Given the description of an element on the screen output the (x, y) to click on. 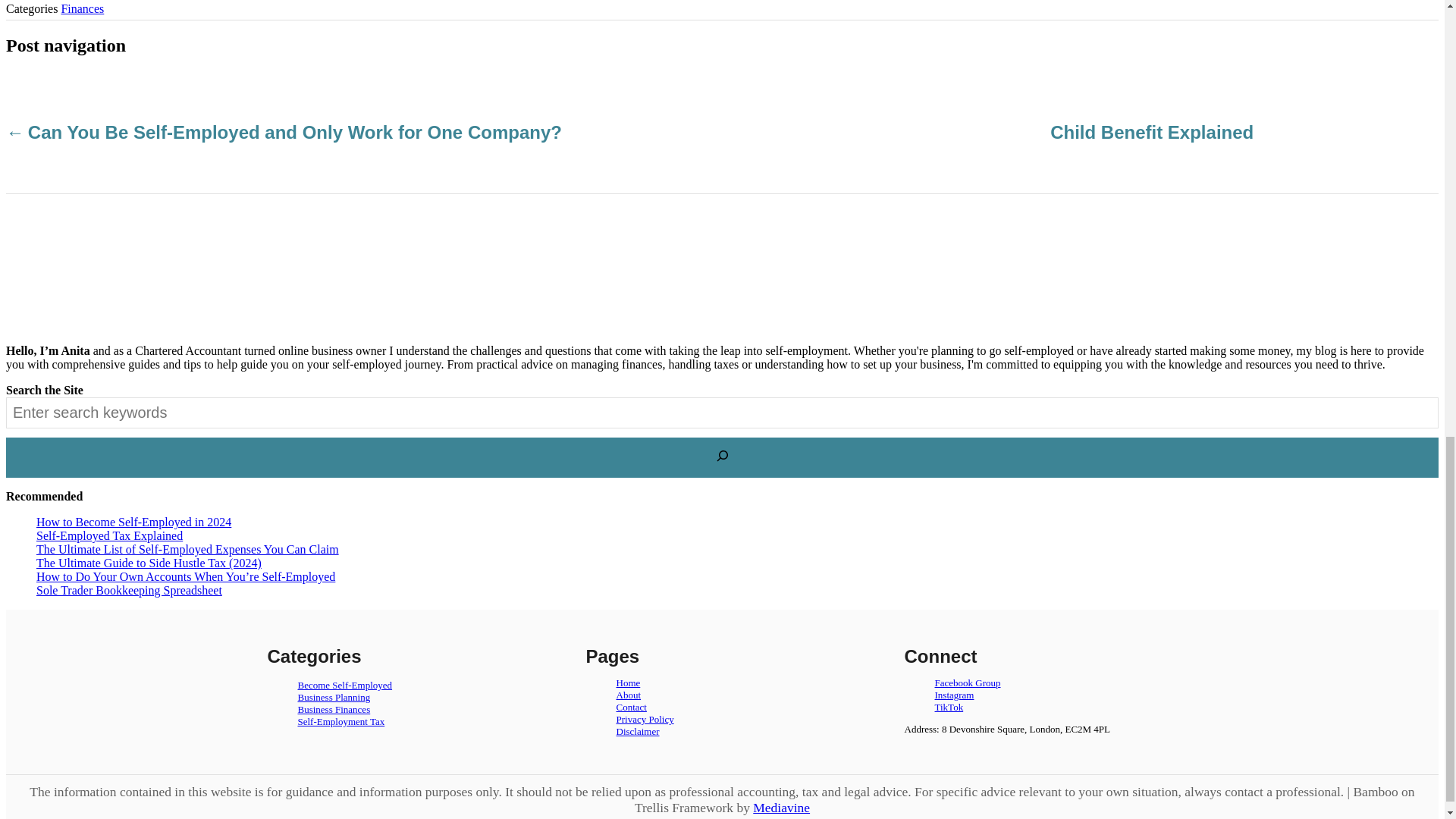
Business Planning (333, 696)
Become Self-Employed (344, 685)
Self-Employment Tax (340, 721)
Finances (82, 8)
Mediavine (780, 807)
Business Finances (333, 708)
Contact (630, 706)
Instagram (954, 695)
Self-Employed Tax Explained (109, 535)
About (627, 695)
Can You Be Self-Employed and Only Work for One Company? (292, 132)
Home (627, 682)
Privacy Policy (643, 718)
The Ultimate List of Self-Employed Expenses You Can Claim (187, 549)
Disclaimer (637, 731)
